Given the description of an element on the screen output the (x, y) to click on. 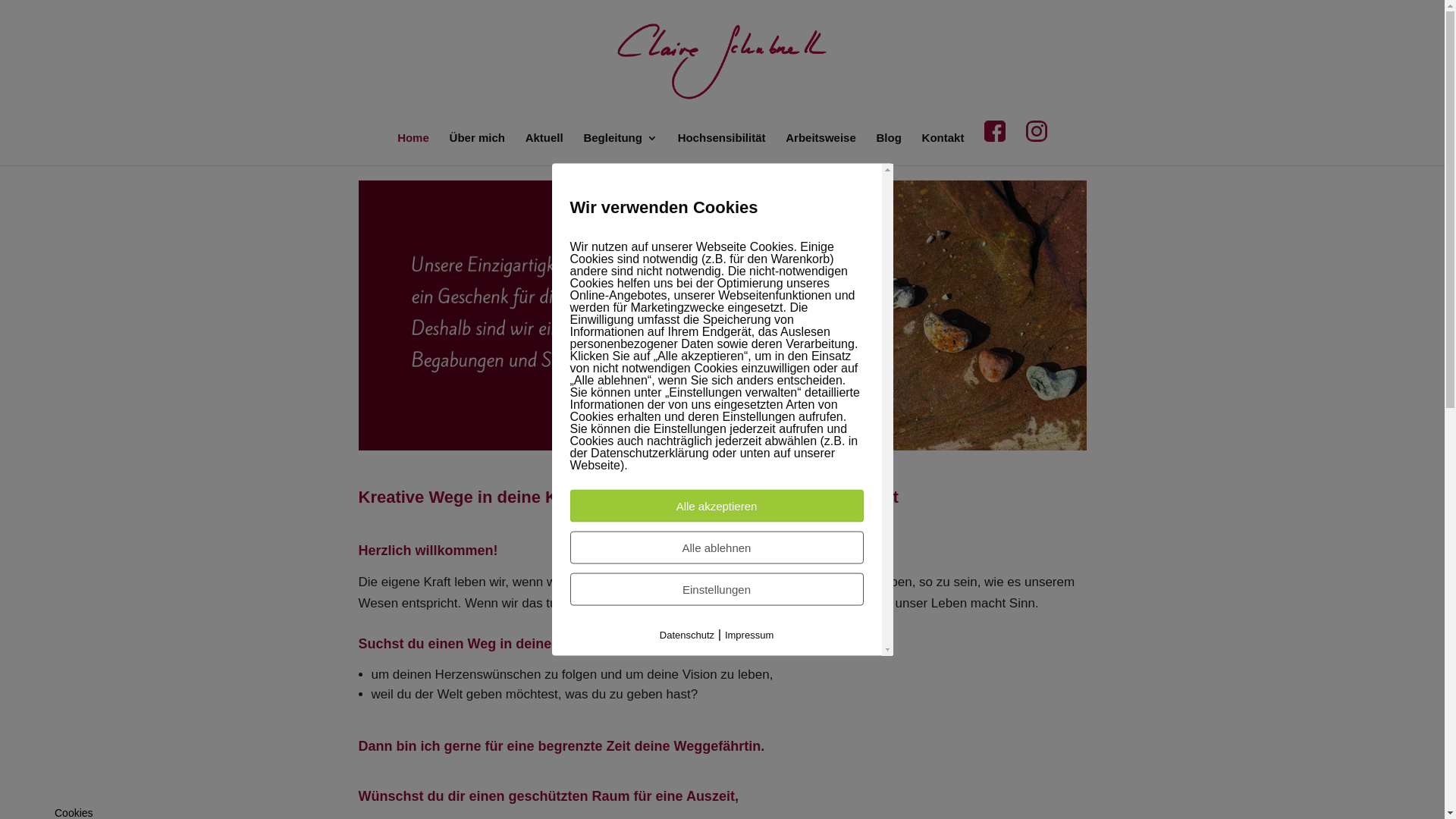
Begleitung Element type: text (620, 148)
Alle akzeptieren Element type: text (716, 505)
Einstellungen Element type: text (716, 589)
Datenschutz Element type: text (686, 634)
Impressum Element type: text (748, 634)
Home Element type: text (413, 148)
Kontakt Element type: text (943, 148)
Alle ablehnen Element type: text (716, 547)
Blog Element type: text (888, 148)
Arbeitsweise Element type: text (820, 148)
Aktuell Element type: text (544, 148)
